Given the description of an element on the screen output the (x, y) to click on. 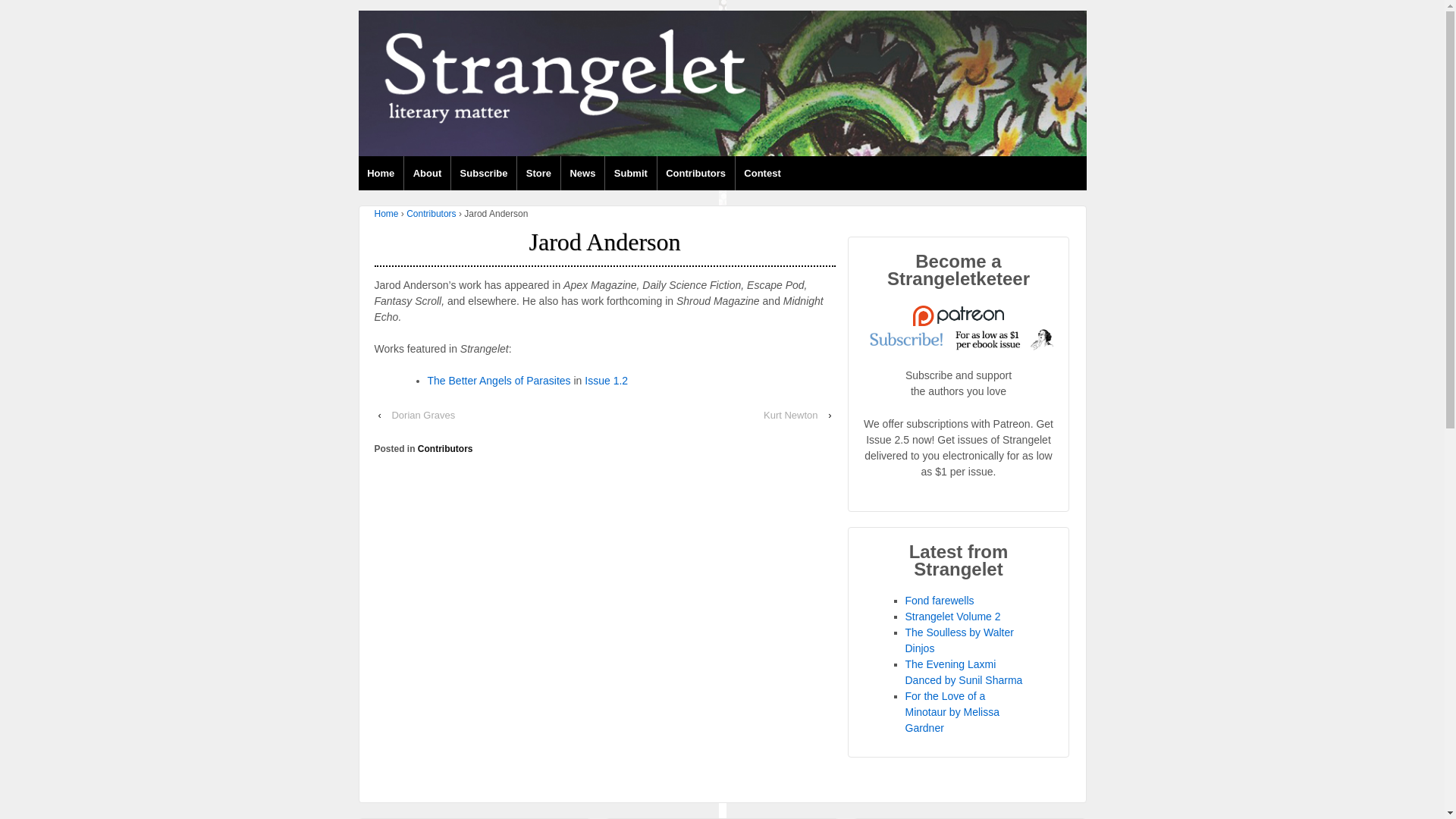
News (582, 173)
Subscribe (482, 173)
The Soulless by Walter Dinjos (959, 640)
Home (380, 173)
The Better Angels of Parasites (499, 380)
Strangelet Volume 1.2 (606, 380)
Home (386, 213)
Kurt Newton (790, 415)
Contributors (695, 173)
Dorian Graves (423, 415)
About (426, 173)
The Evening Laxmi Danced by Sunil Sharma (964, 672)
Contributors (445, 448)
Contest (762, 173)
Fond farewells (939, 600)
